Given the description of an element on the screen output the (x, y) to click on. 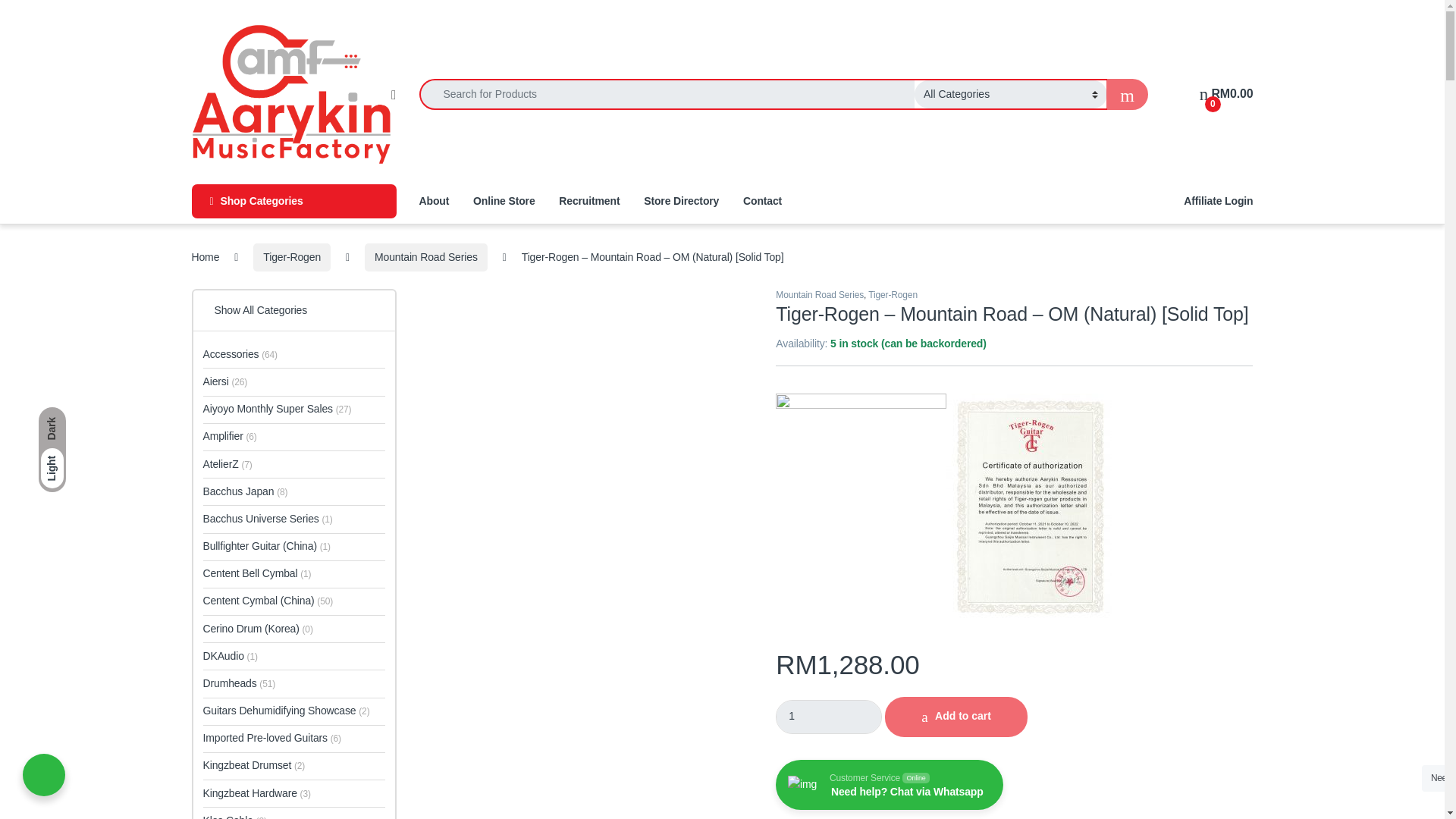
1 (829, 716)
